Given the description of an element on the screen output the (x, y) to click on. 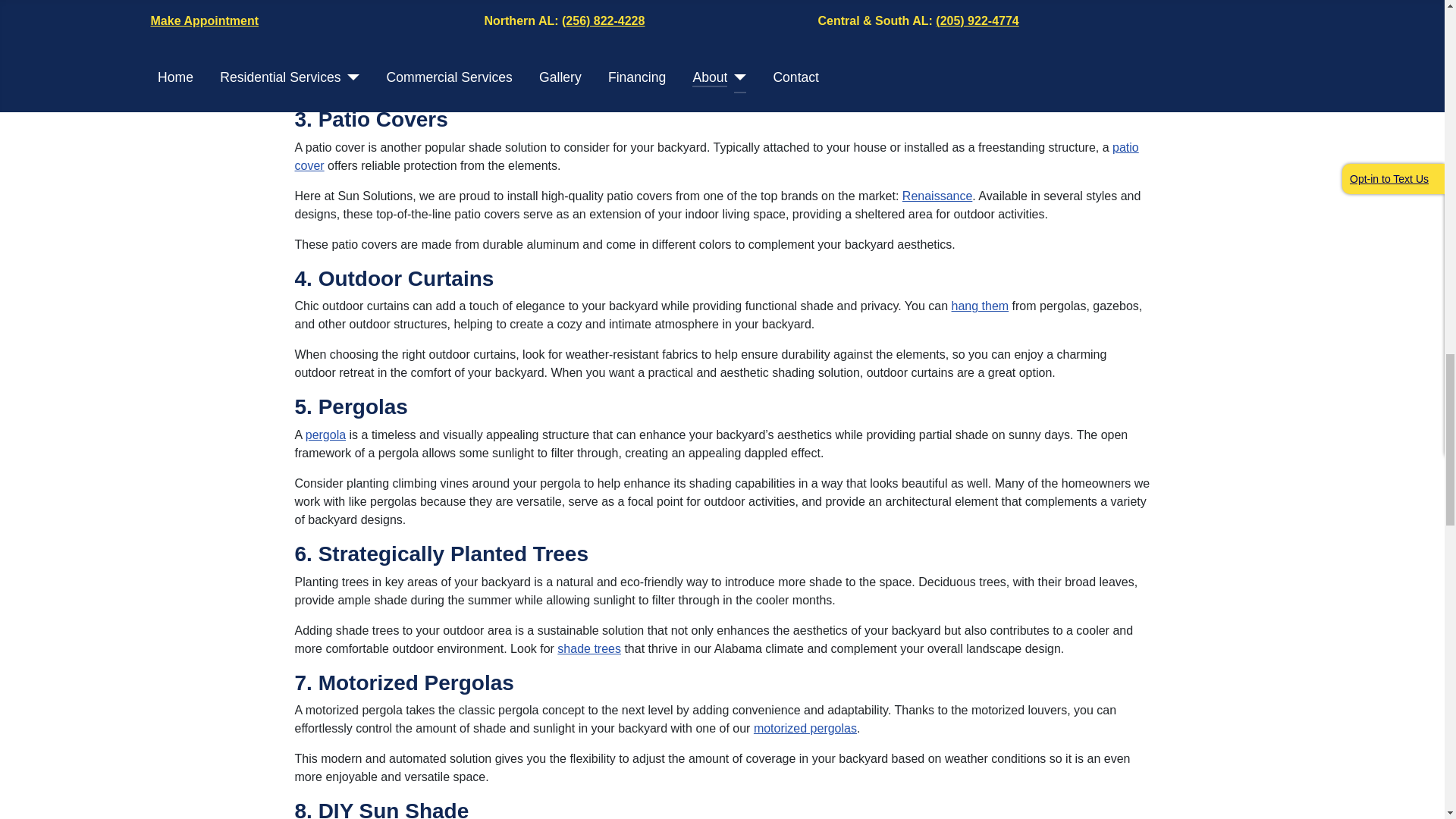
motorized pergolas (805, 727)
hang them (980, 305)
pergola (325, 434)
Renaissance (937, 195)
patio cover (716, 155)
shade trees (589, 648)
